Given the description of an element on the screen output the (x, y) to click on. 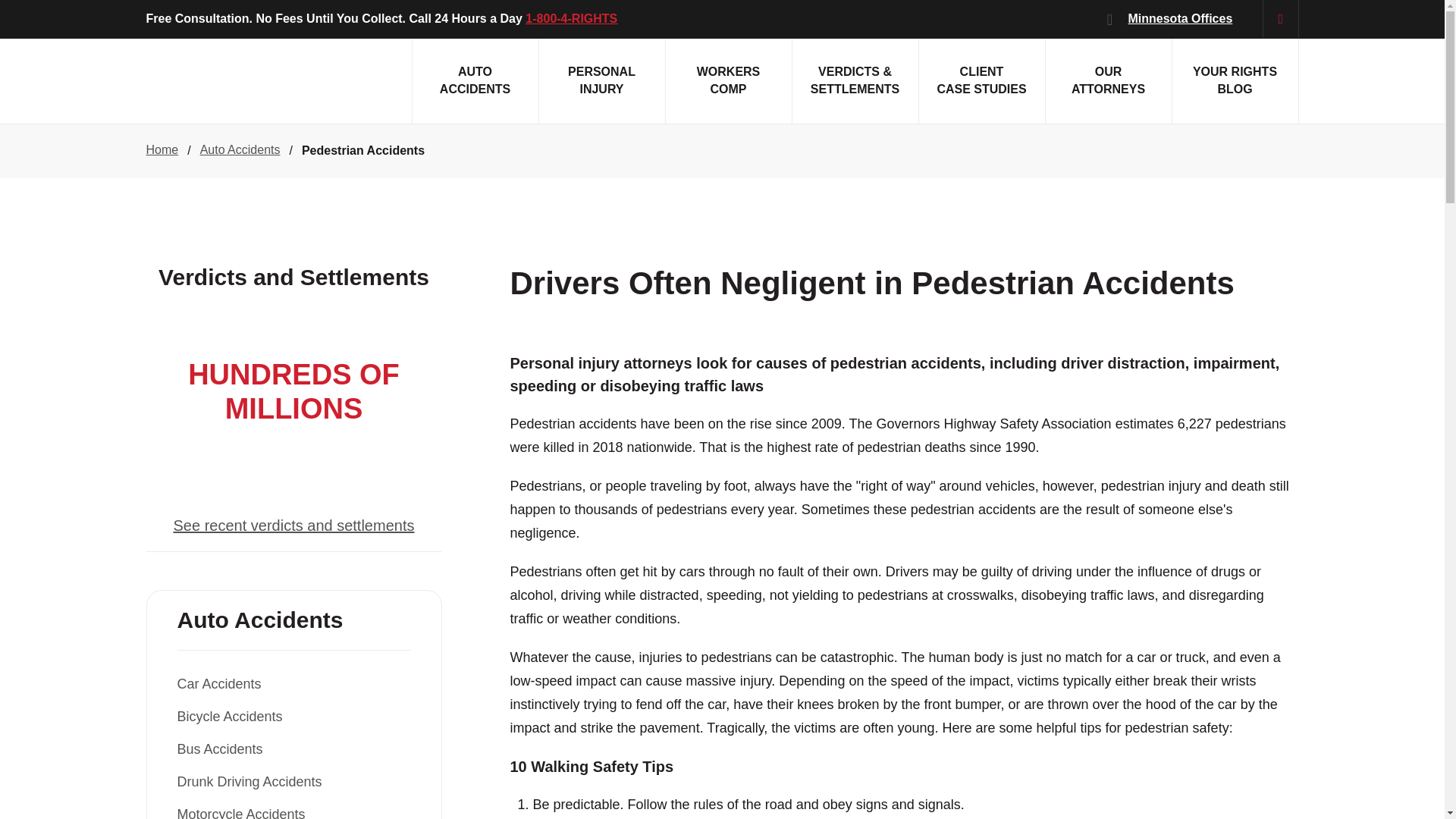
Free Consultation (475, 80)
1-800-4-RIGHTS (600, 80)
Minnesota Offices (196, 18)
